Given the description of an element on the screen output the (x, y) to click on. 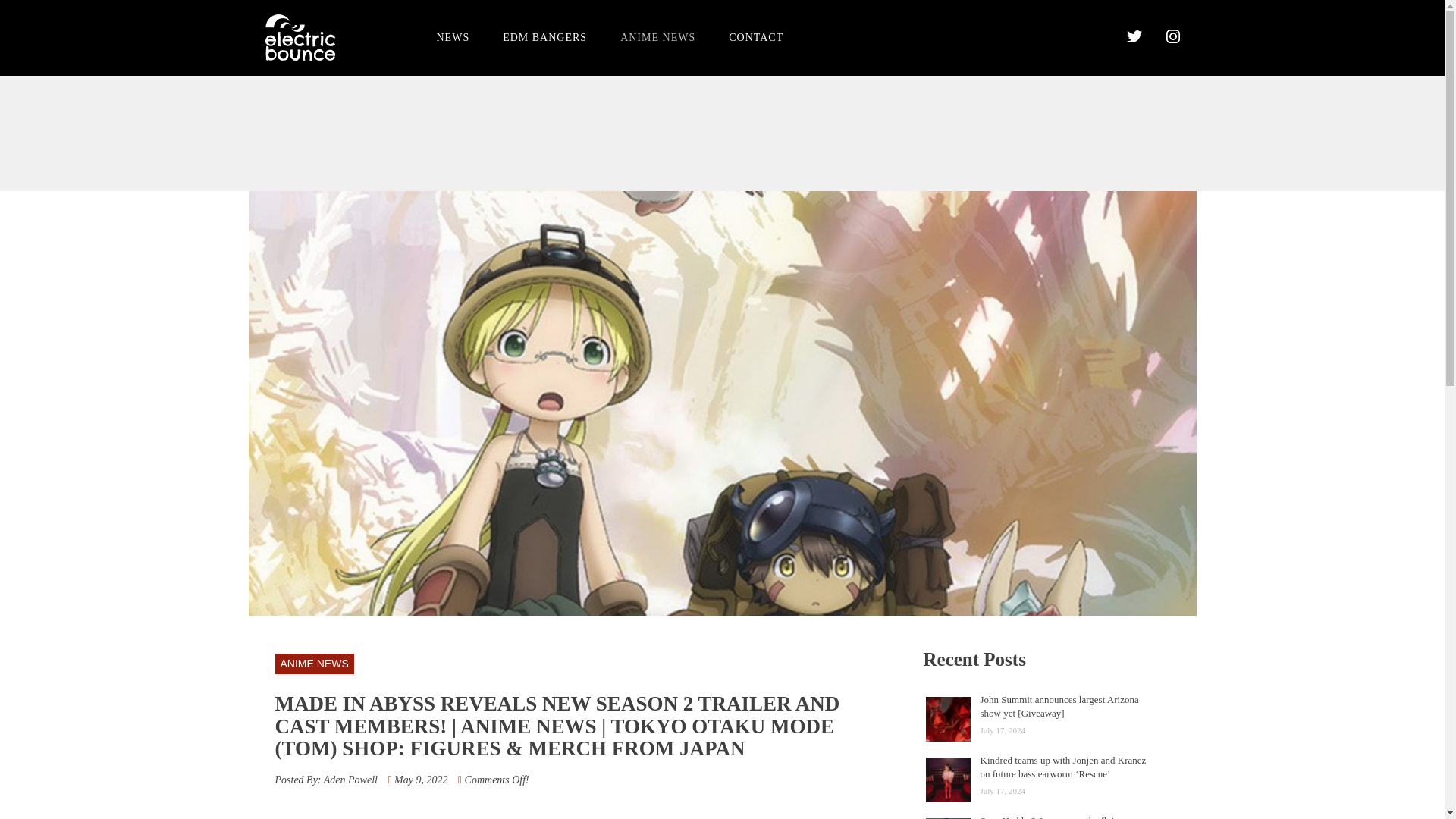
EDM BANGERS (545, 36)
ANIME NEWS (314, 663)
Aden Powell (350, 779)
ANIME NEWS (657, 36)
NEWS (453, 36)
CONTACT (755, 36)
Advertisement (721, 132)
May 9, 2022 (420, 779)
